Given the description of an element on the screen output the (x, y) to click on. 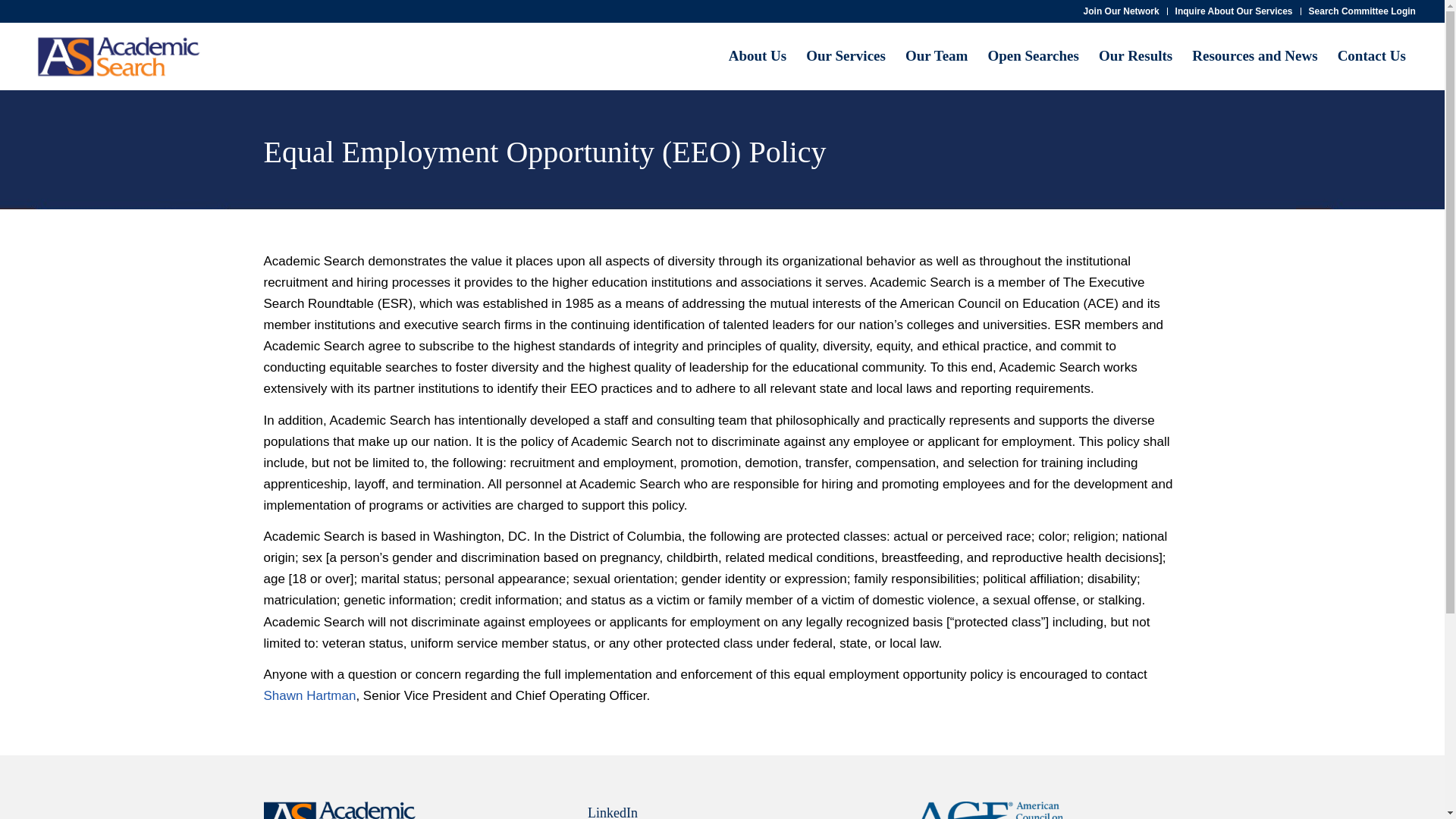
Our Services (845, 56)
Inquire About Our Services (1233, 11)
Open Searches (1032, 56)
Shawn Hartman (309, 695)
Our Team (936, 56)
Our Results (1135, 56)
About Us (757, 56)
LinkedIn (612, 812)
Resources and News (1254, 56)
Search Committee Login (1361, 11)
Join Our Network (1120, 11)
Academic Search Logo (119, 56)
Contact Us (1371, 56)
